Given the description of an element on the screen output the (x, y) to click on. 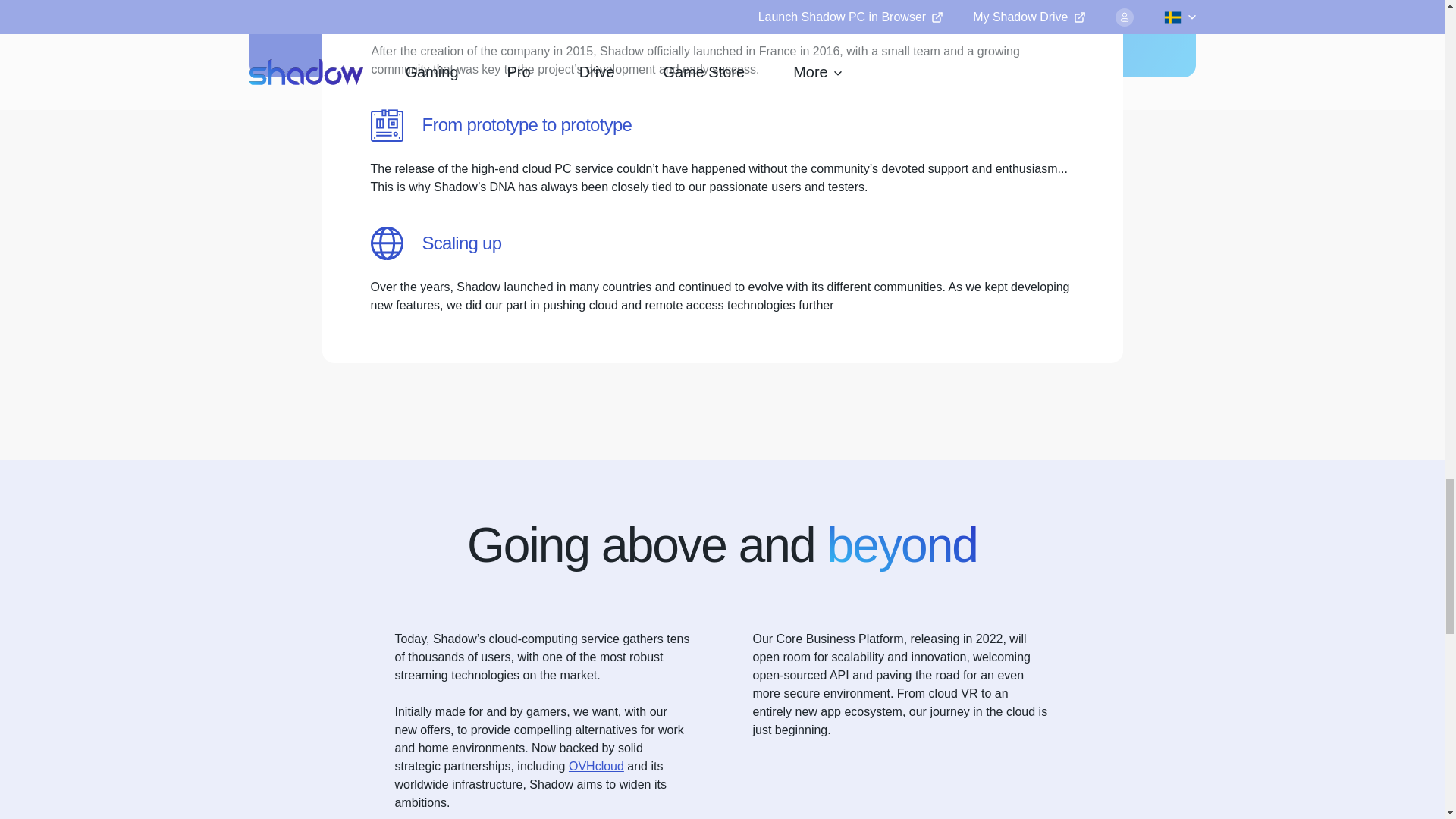
OVHcloud (596, 766)
